Given the description of an element on the screen output the (x, y) to click on. 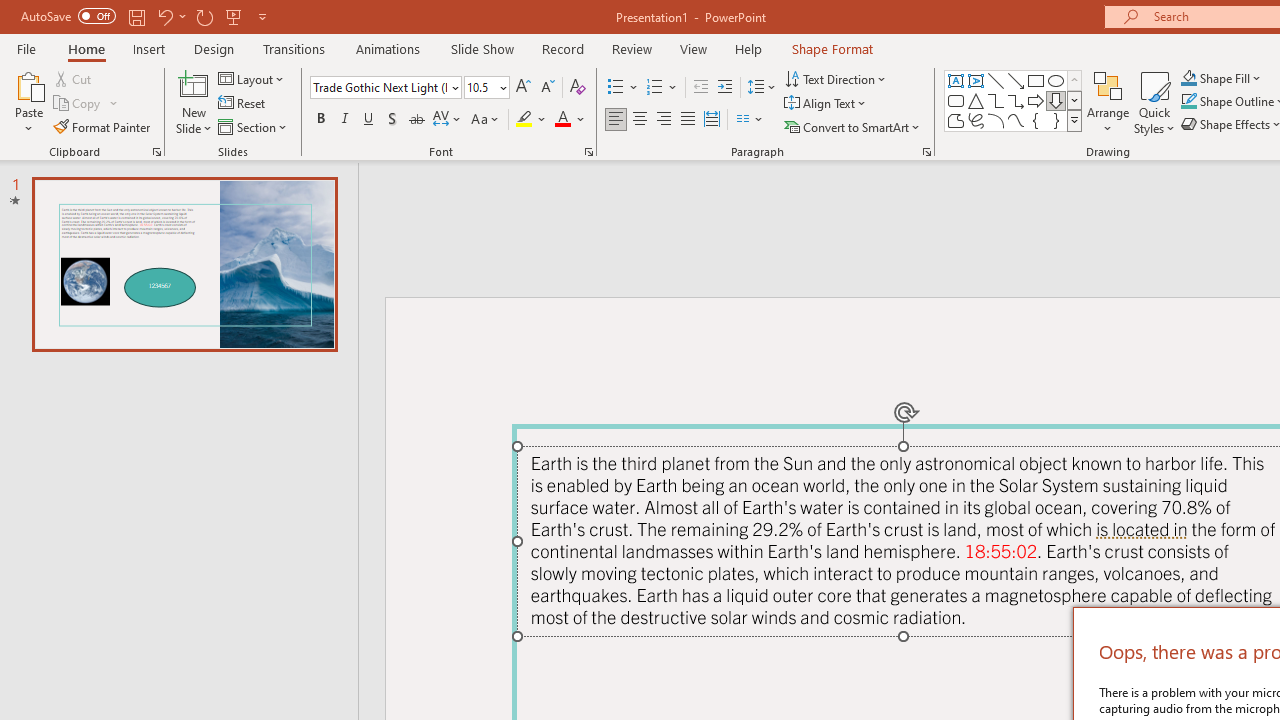
Increase Font Size (522, 87)
Paste (28, 102)
Cut (73, 78)
Copy (85, 103)
Paste (28, 84)
Right Brace (1055, 120)
Shape Format (832, 48)
Freeform: Scribble (975, 120)
Font (379, 87)
Bullets (623, 87)
